Given the description of an element on the screen output the (x, y) to click on. 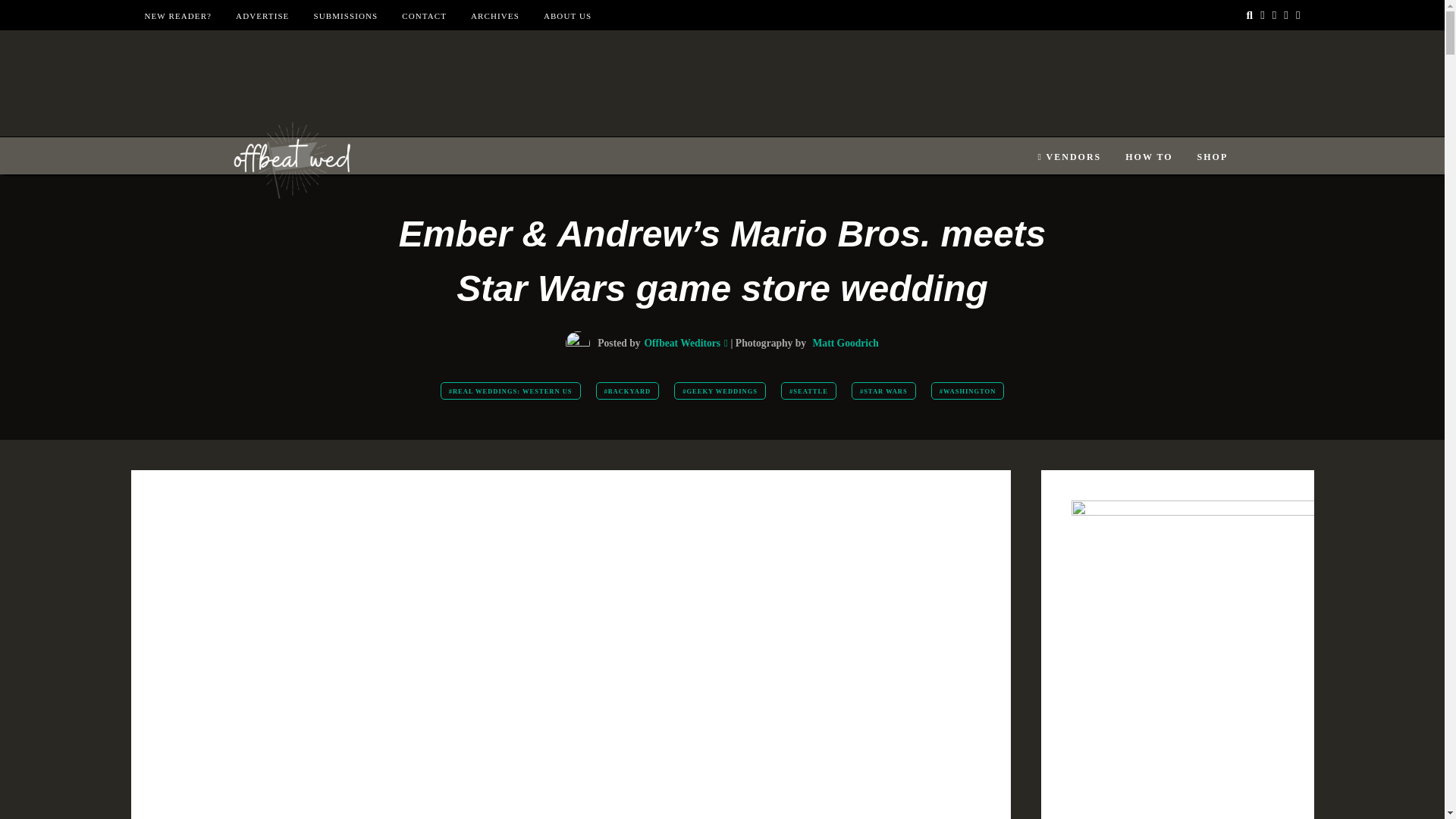
CONTACT (423, 15)
ARCHIVES (494, 15)
ABOUT US (567, 15)
HOW TO (1148, 157)
SUBMISSIONS (345, 15)
ADVERTISE (261, 15)
Matt Goodrich (845, 342)
Posts by Offbeat Weditors (682, 343)
Offbeat Weditors (682, 343)
NEW READER? (177, 15)
